Given the description of an element on the screen output the (x, y) to click on. 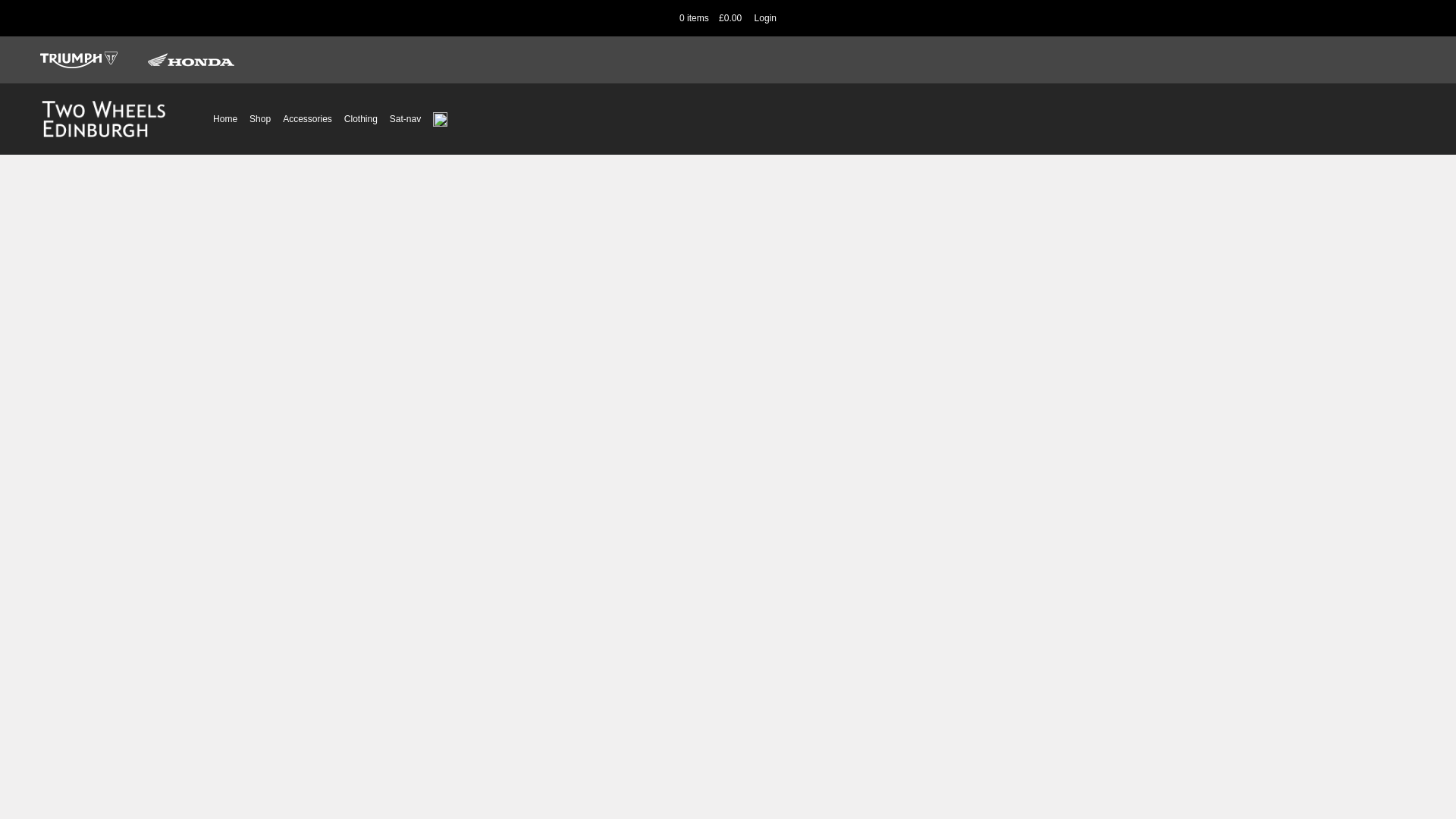
Clothing (360, 118)
Sat-nav (405, 118)
Two Wheels (103, 117)
Sat-nav (405, 118)
Accessories (306, 118)
Cart (711, 18)
Accessories (306, 118)
Shop (259, 118)
Home (224, 118)
Shop (259, 118)
Home (224, 118)
Clothing  (360, 118)
